Given the description of an element on the screen output the (x, y) to click on. 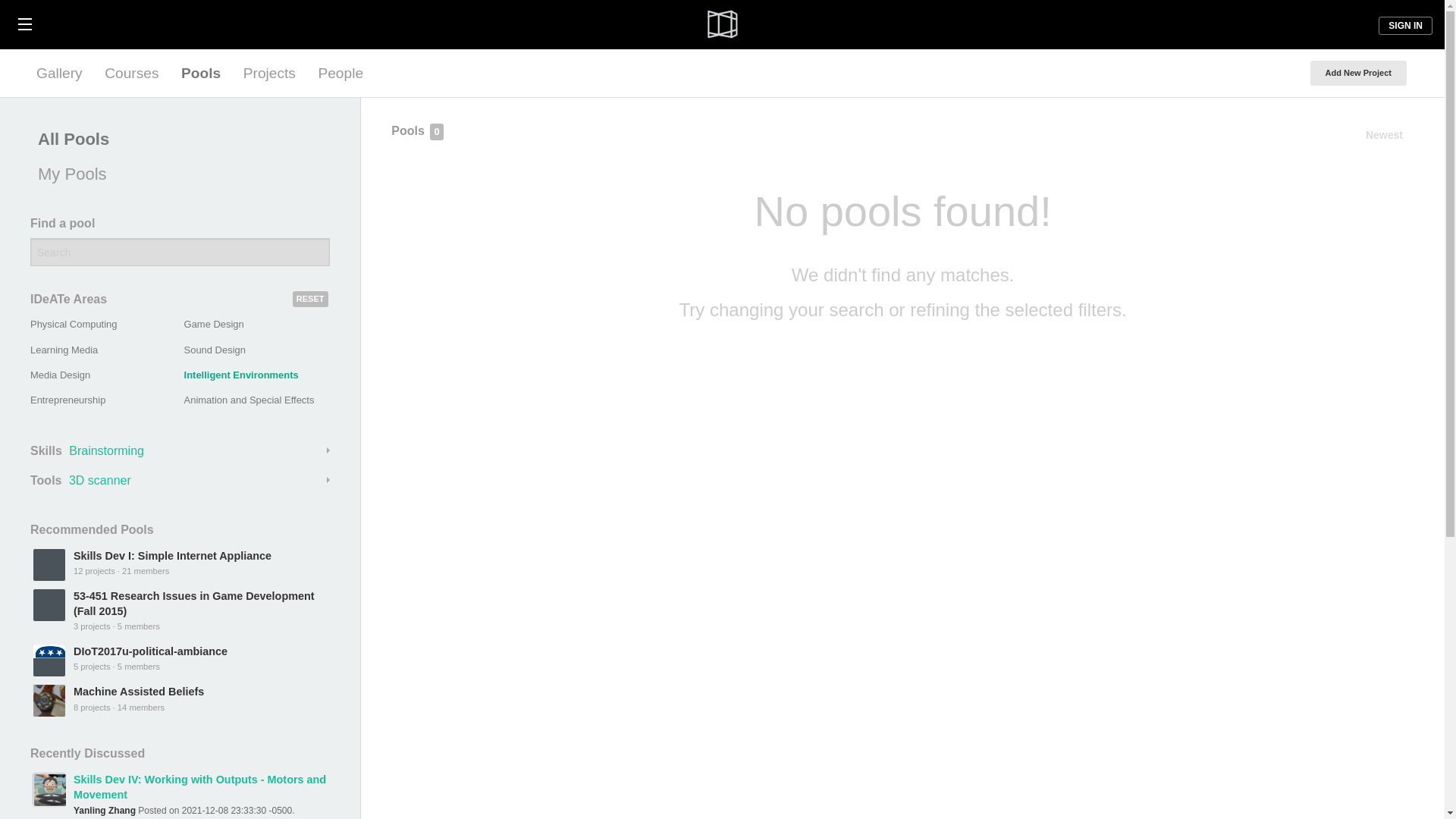
Physical Computing (73, 324)
My Pools (175, 174)
Add New Project (1358, 72)
People (340, 73)
RESET (310, 299)
Skills Brainstorming (180, 451)
Animation and Special Effects (249, 399)
SIGN IN (1405, 25)
Game Design (214, 324)
All Pools (175, 139)
Learning Media (63, 349)
Media Design (60, 374)
Sound Design (215, 349)
Gallery (59, 73)
Courses (131, 73)
